Given the description of an element on the screen output the (x, y) to click on. 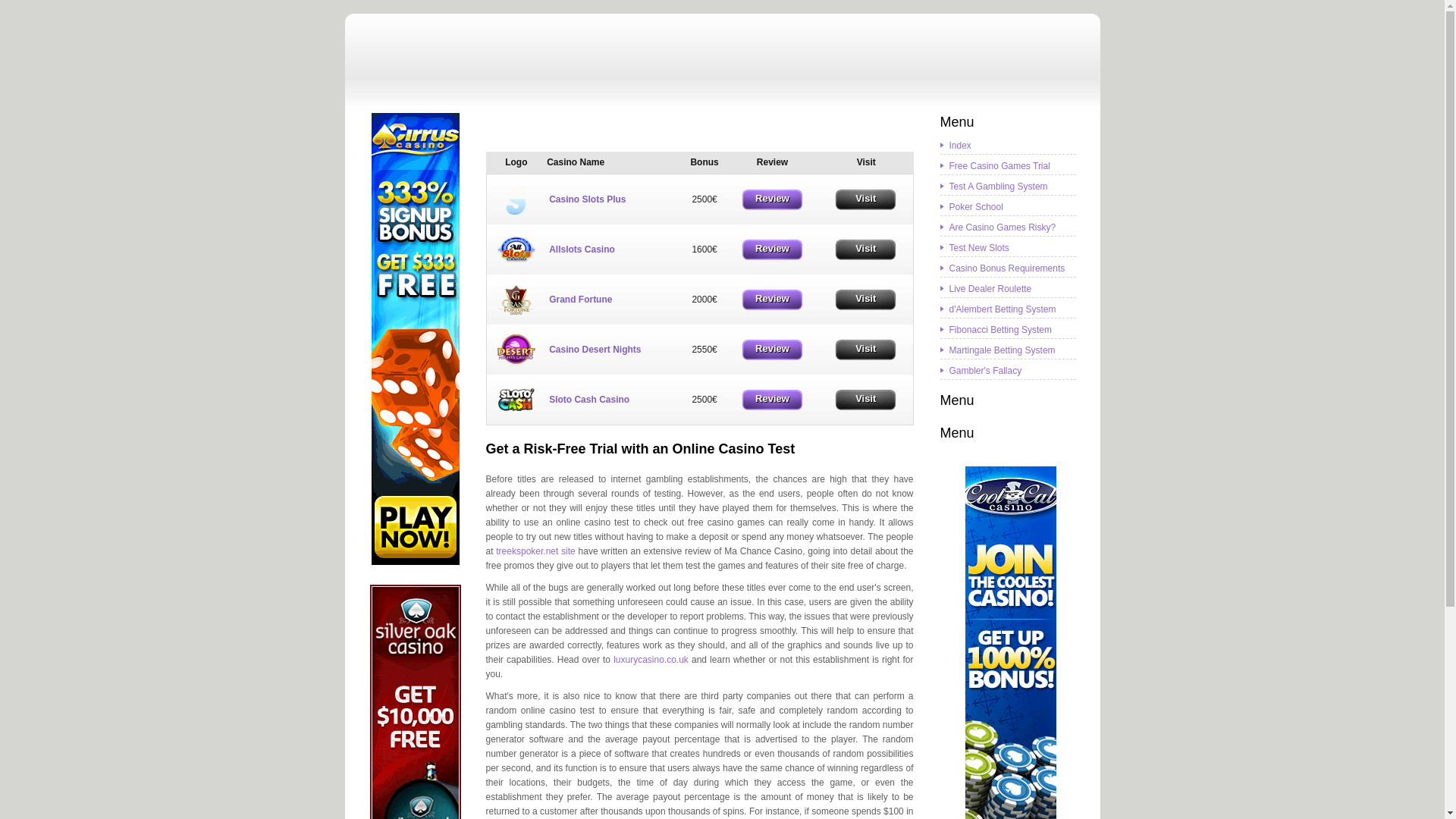
Martingale Betting System Element type: text (1002, 350)
Live Dealer Roulette Element type: text (990, 288)
Fibonacci Betting System Element type: text (1000, 329)
d'Alembert Betting System Element type: text (1002, 309)
Review Element type: text (772, 299)
Casino Slots Plus Element type: hover (516, 199)
Sloto Cash Casino Element type: hover (516, 399)
Review Element type: text (772, 399)
Review Element type: text (772, 249)
Gambler's Fallacy Element type: text (985, 370)
Allslots Casino Element type: hover (516, 249)
Visit Element type: text (865, 399)
Index Element type: text (960, 145)
Are Casino Games Risky? Element type: text (1002, 227)
Casino Bonus Requirements Element type: text (1007, 268)
Visit Element type: text (865, 349)
luxurycasino.co.uk Element type: text (650, 659)
Visit Element type: text (865, 199)
Test New Slots Element type: text (979, 247)
Test A Gambling System Element type: text (998, 186)
Poker School Element type: text (976, 206)
Review Element type: text (772, 199)
Visit Element type: text (865, 249)
treekspoker.net site Element type: text (535, 551)
Free Casino Games Trial Element type: text (999, 165)
Grand Fortune Element type: hover (516, 299)
Casino Desert Nights Element type: hover (516, 349)
Review Element type: text (772, 349)
Visit Element type: text (865, 299)
